Given the description of an element on the screen output the (x, y) to click on. 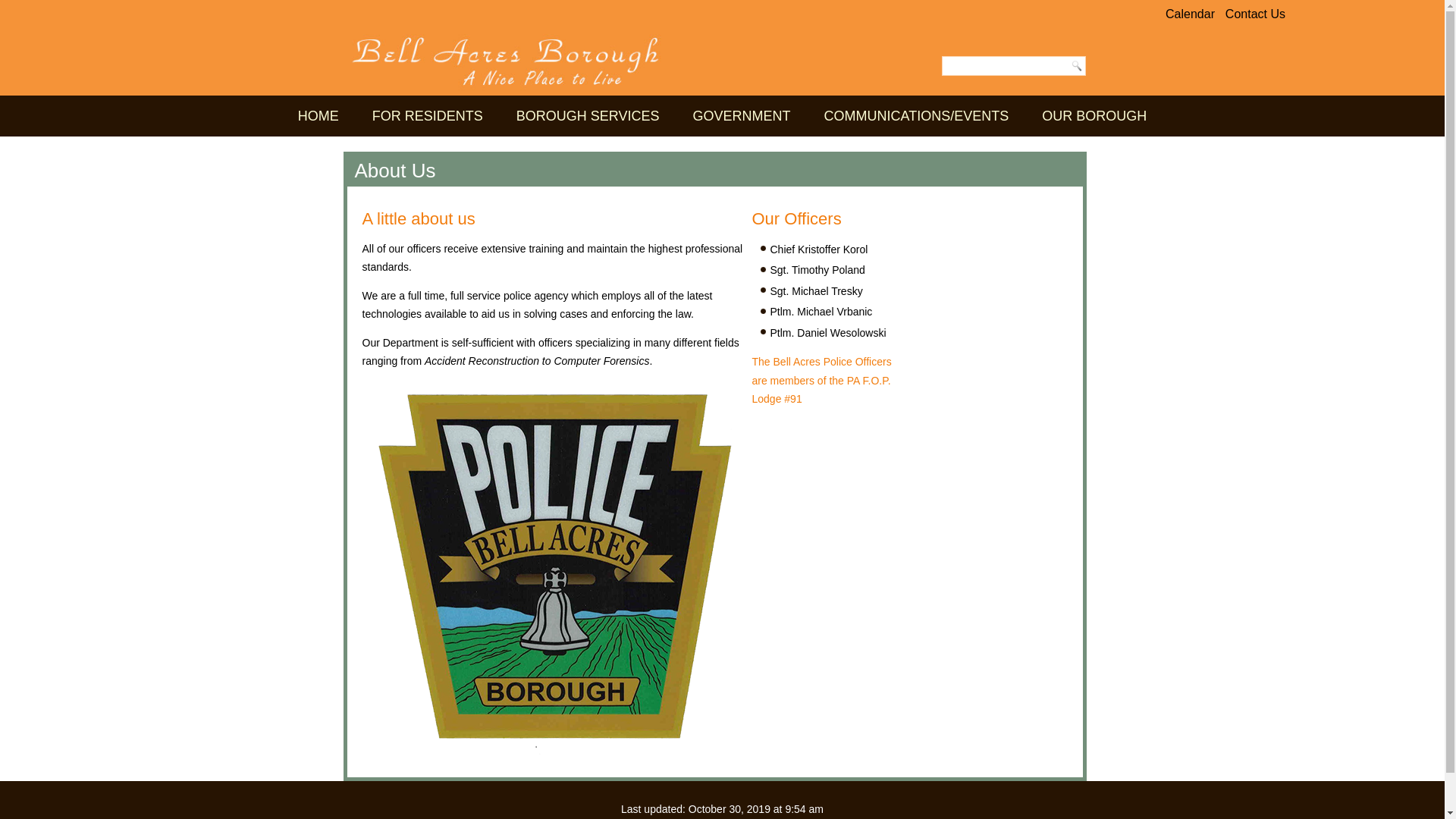
Our Borough (1093, 115)
BOROUGH SERVICES (587, 115)
OUR BOROUGH (1093, 115)
Calendar (1190, 13)
HOME (318, 115)
Home (318, 115)
FOR RESIDENTS (427, 115)
For Residents (427, 115)
Borough Services (587, 115)
Contact Us (1255, 13)
GOVERNMENT (741, 115)
Government (741, 115)
